Given the description of an element on the screen output the (x, y) to click on. 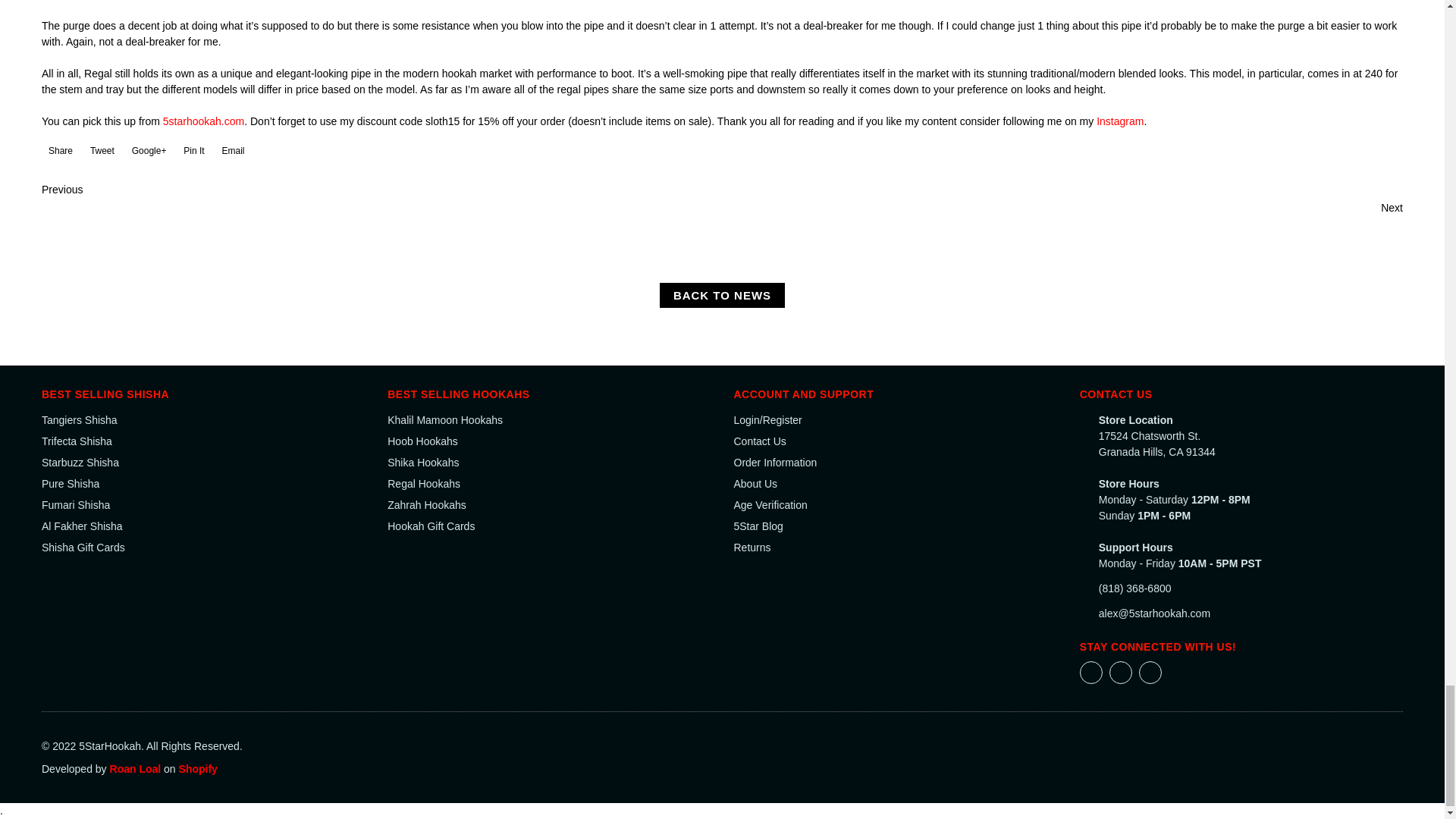
5StarHookah on Instagram (1120, 671)
5StarHookah on Facebook (1091, 671)
Share by Email (231, 155)
Tweet on Twitter (99, 155)
Share on Facebook (59, 155)
Pin on Pinterest (192, 155)
